Given the description of an element on the screen output the (x, y) to click on. 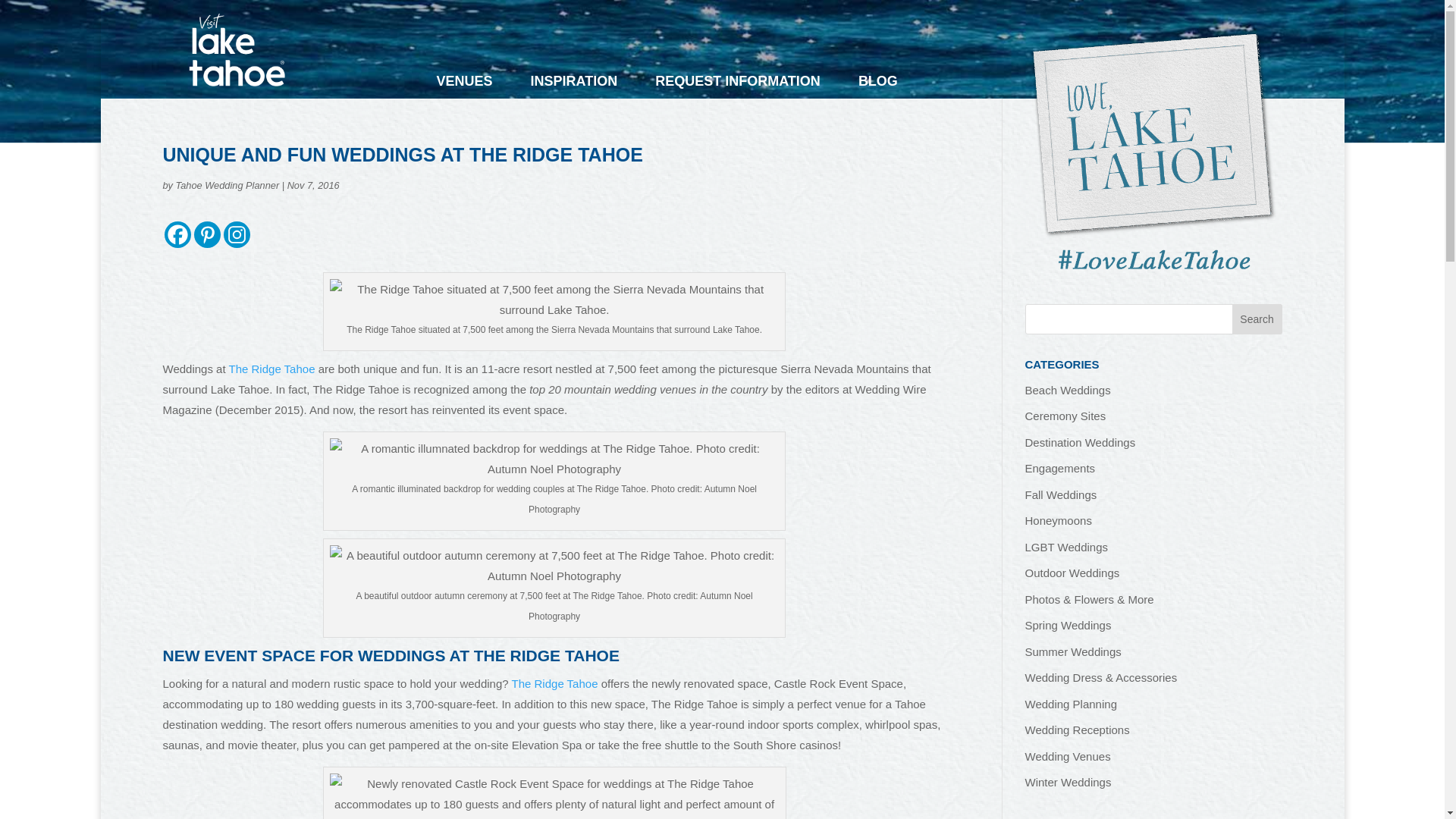
Wedding Planning (1070, 703)
Pinterest (207, 234)
Winter Weddings (1068, 781)
INSPIRATION (574, 87)
Search (1256, 318)
VENUES (464, 87)
Posts by Tahoe Wedding Planner (227, 184)
The Ridge Tahoe (271, 368)
Fall Weddings (1061, 494)
Ceremony Sites (1065, 415)
